Given the description of an element on the screen output the (x, y) to click on. 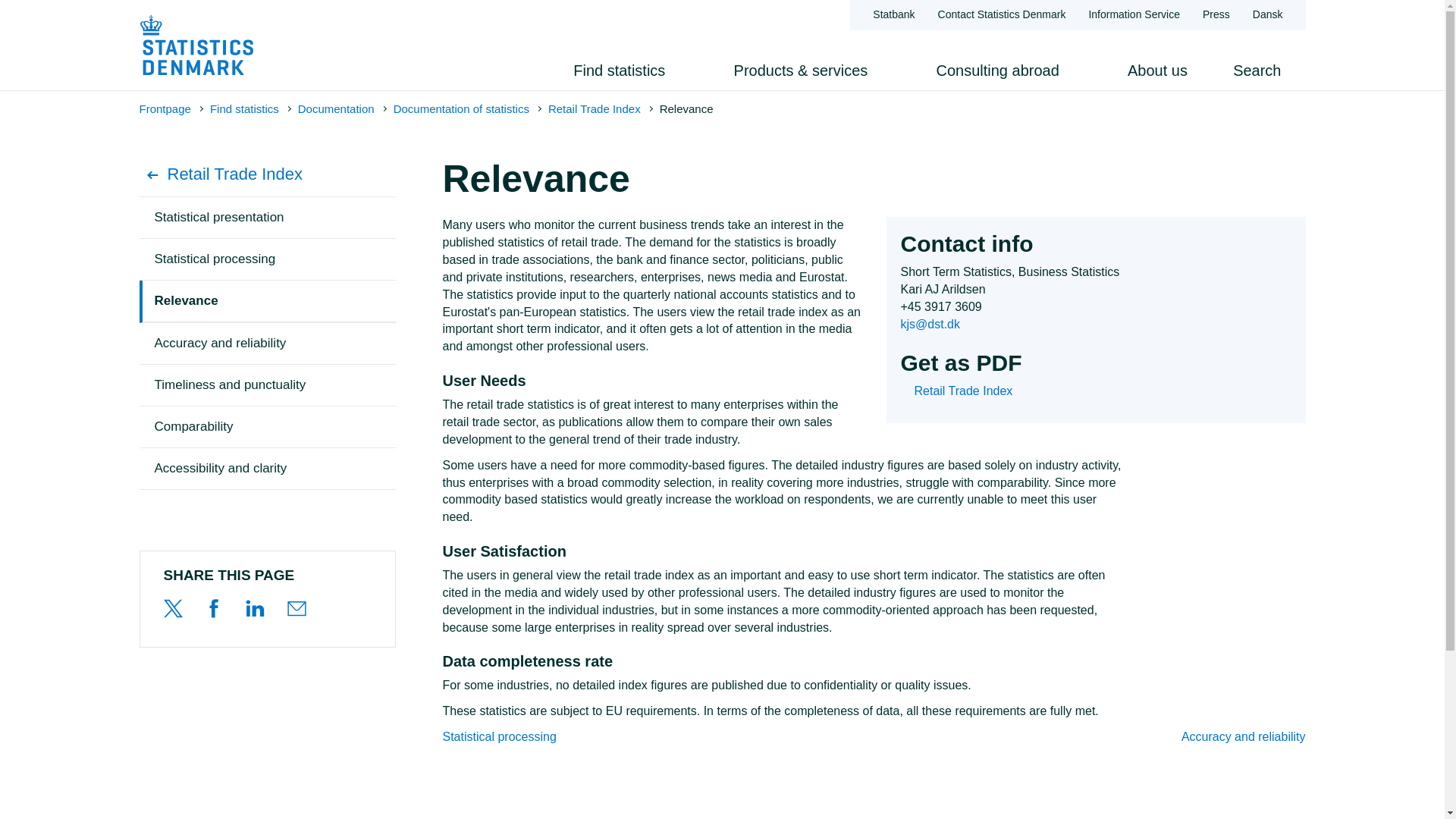
Statistics Denmark - Go to the frontpage (196, 45)
Press (1216, 15)
Dansk (1267, 15)
Find statistics (619, 70)
Contact Statistics Denmark (1002, 15)
Consulting abroad (997, 70)
Information Service (1134, 15)
Statbank (892, 15)
Hent Retail Trade Index som PDF (957, 390)
